Given the description of an element on the screen output the (x, y) to click on. 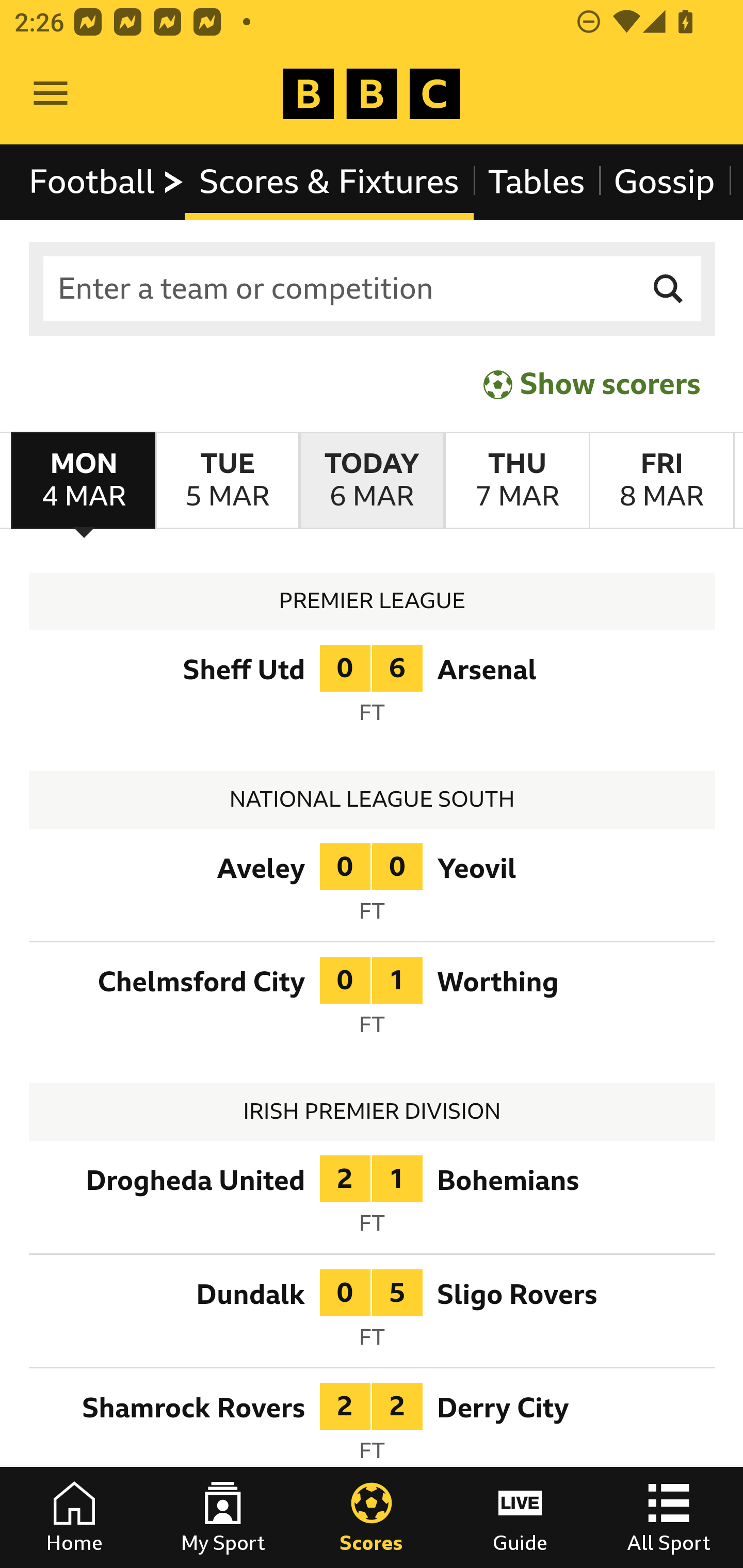
Open Menu (50, 93)
Football  (106, 181)
Scores & Fixtures (329, 181)
Tables (536, 181)
Gossip (664, 181)
Search (669, 289)
Show scorers (591, 383)
TuesdayMarch 5th Tuesday March 5th (227, 480)
TodayMarch 6th Today March 6th (371, 480)
ThursdayMarch 7th Thursday March 7th (516, 480)
FridayMarch 8th Friday March 8th (661, 480)
68399653 Sheffield United 0 Arsenal 6 Full Time (372, 689)
Home (74, 1517)
My Sport (222, 1517)
Guide (519, 1517)
All Sport (668, 1517)
